Given the description of an element on the screen output the (x, y) to click on. 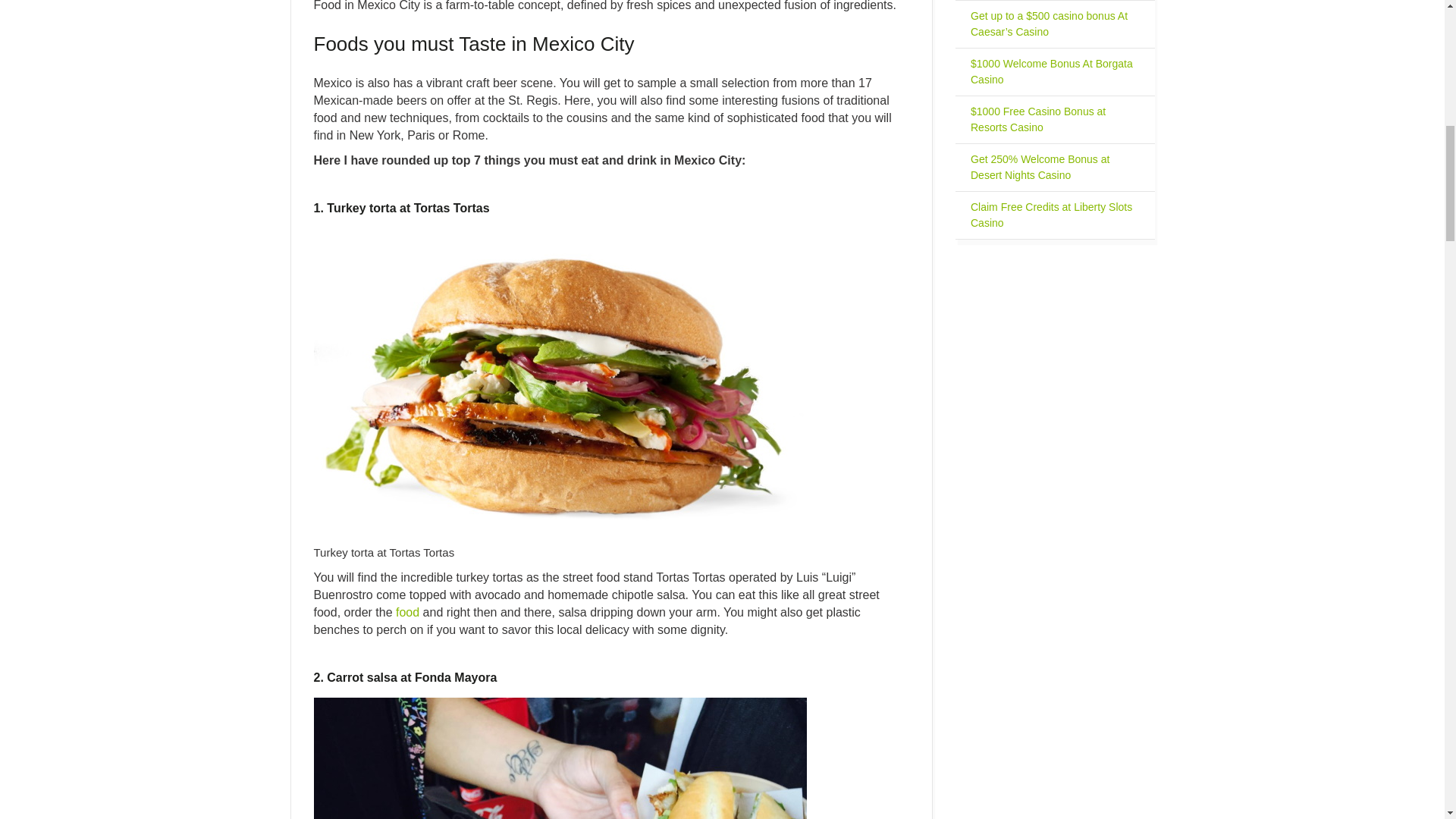
Top 10 Foods you must Taste in Mexico City (560, 758)
food (409, 612)
